Given the description of an element on the screen output the (x, y) to click on. 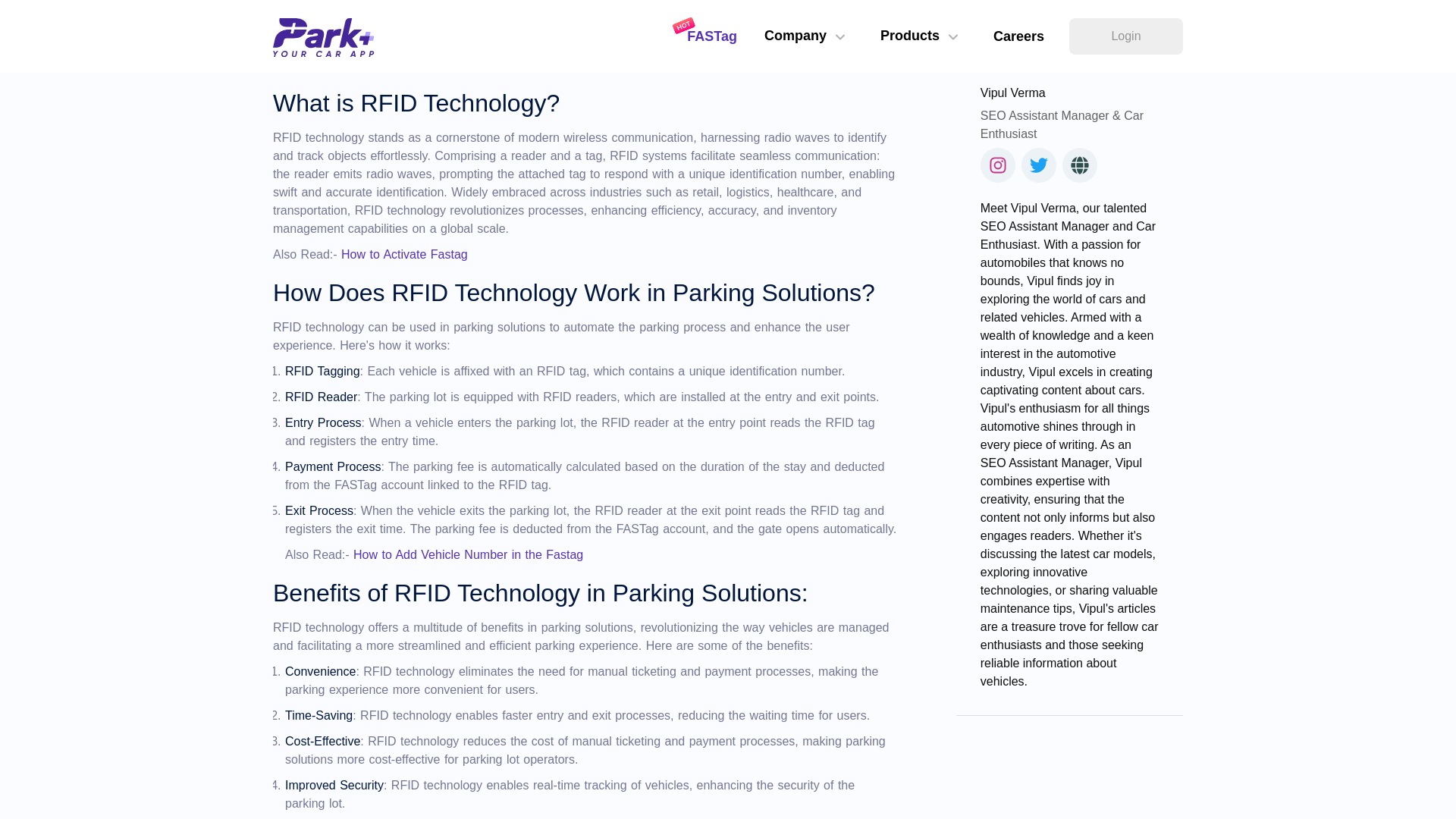
How to Add Vehicle Number in the Fastag (468, 554)
How to Activate Fastag (403, 254)
